Given the description of an element on the screen output the (x, y) to click on. 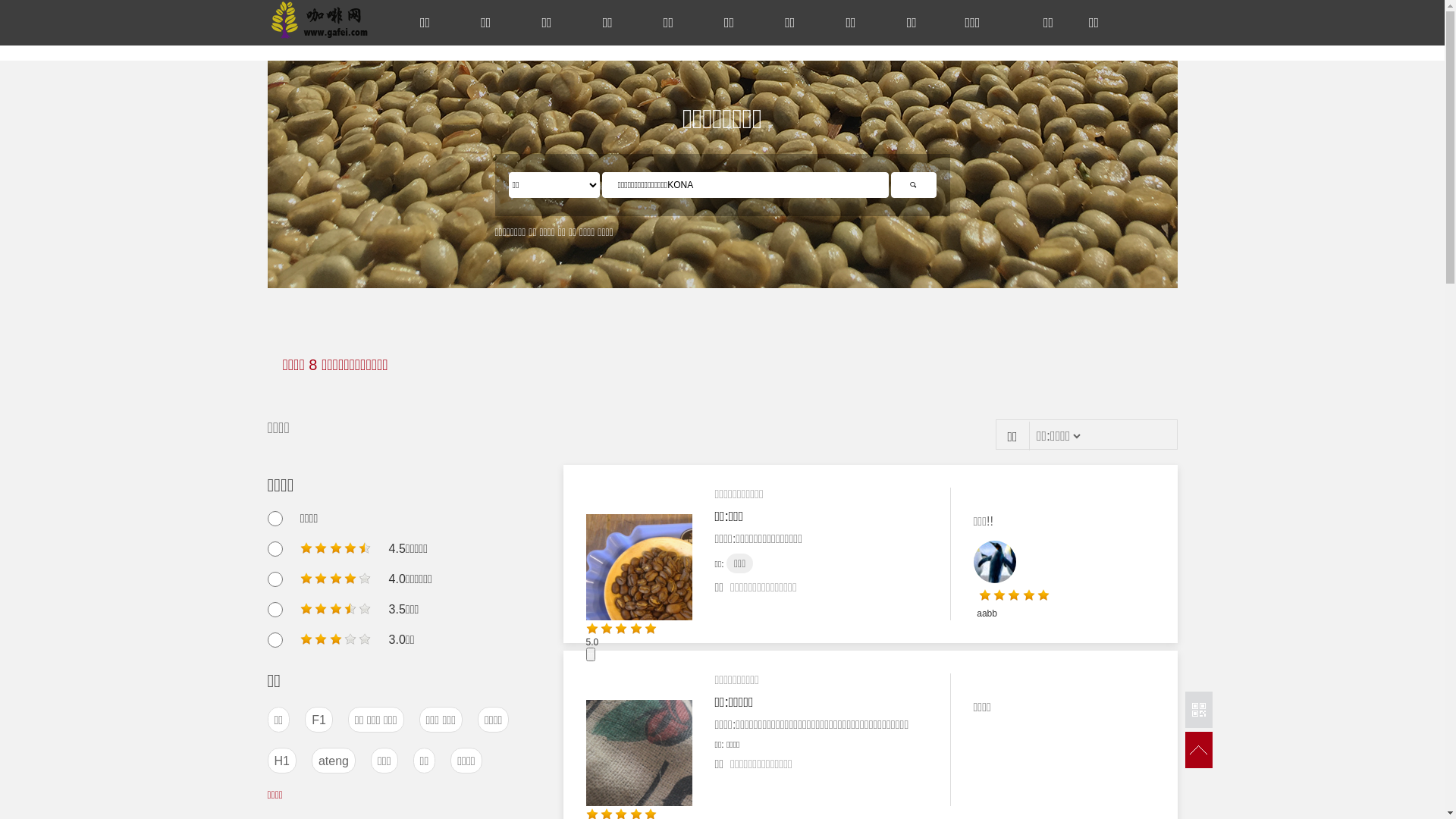
gorgeous Element type: hover (985, 595)
gorgeous Element type: hover (657, 629)
good Element type: hover (306, 547)
F1 Element type: text (318, 720)
regular Element type: hover (364, 638)
good Element type: hover (306, 577)
good Element type: hover (320, 547)
gorgeous Element type: hover (591, 628)
regular Element type: hover (335, 638)
good Element type: hover (350, 547)
good Element type: hover (335, 547)
gorgeous Element type: hover (606, 628)
good Element type: hover (335, 578)
regular Element type: hover (335, 639)
good Element type: hover (364, 577)
good Element type: hover (335, 577)
good Element type: hover (350, 577)
gorgeous Element type: hover (999, 595)
regular Element type: hover (306, 608)
gorgeous Element type: hover (636, 628)
regular Element type: hover (350, 638)
gorgeous Element type: hover (1043, 595)
gorgeous Element type: hover (1023, 598)
gorgeous Element type: hover (621, 628)
good Element type: hover (335, 548)
ateng Element type: text (333, 761)
regular Element type: hover (335, 608)
regular Element type: hover (364, 608)
regular Element type: hover (335, 609)
regular Element type: hover (350, 608)
good Element type: hover (364, 547)
gorgeous Element type: hover (650, 628)
H1 Element type: text (281, 761)
regular Element type: hover (320, 608)
regular Element type: hover (306, 638)
gorgeous Element type: hover (1013, 595)
gorgeous Element type: hover (1028, 595)
regular Element type: hover (320, 638)
good Element type: hover (320, 577)
